Given the description of an element on the screen output the (x, y) to click on. 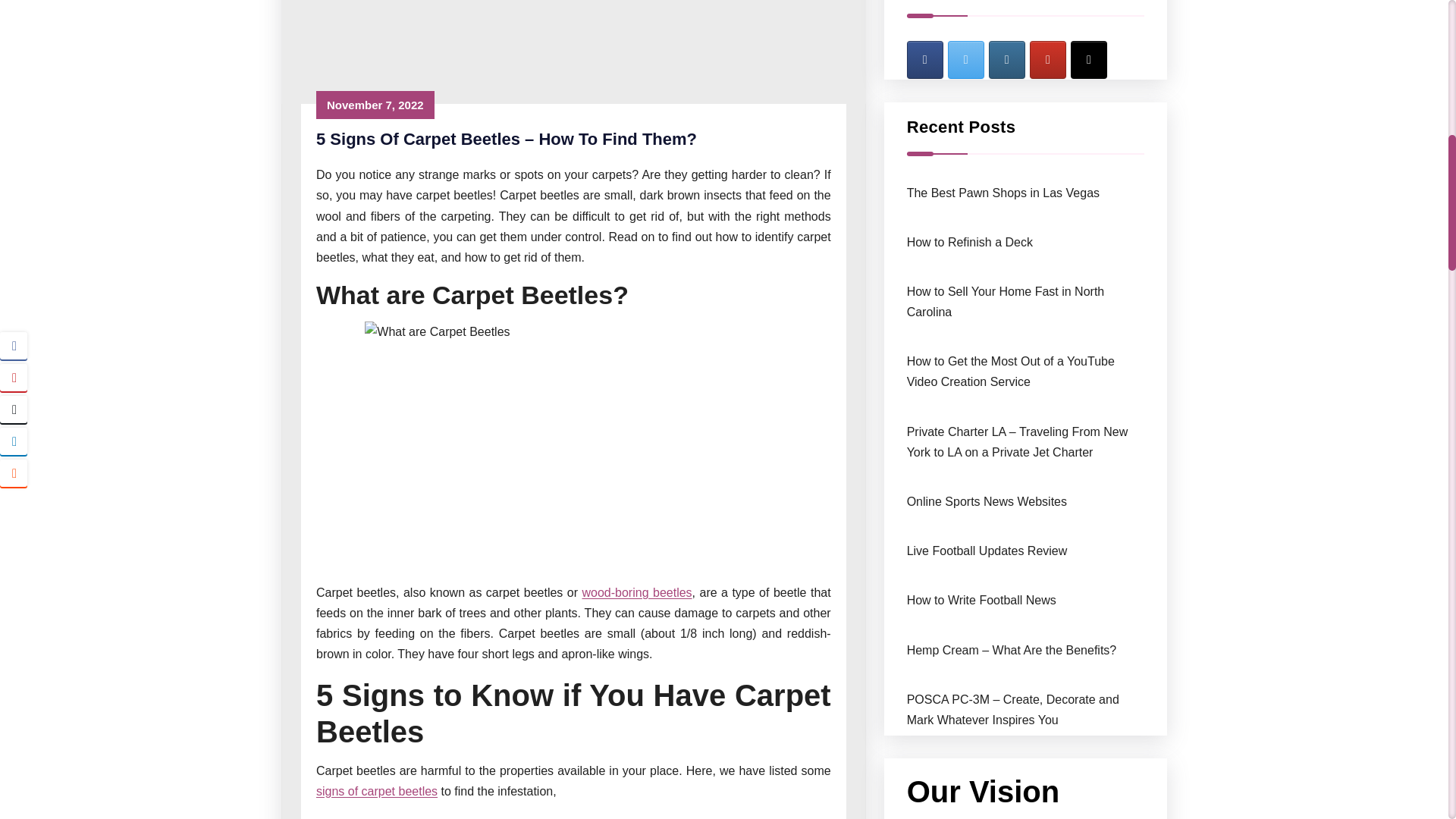
Biz News Media on Youtube (1047, 59)
Live Football Updates Review (987, 550)
Biz News Media on Instagram (1006, 59)
How to Sell Your Home Fast in North Carolina (1006, 301)
wood-boring beetles (635, 592)
How to Get the Most Out of a YouTube Video Creation Service (1011, 371)
Online Sports News Websites (987, 501)
How to Write Football News (982, 599)
signs of carpet beetles (376, 790)
November 7, 2022 (374, 104)
The Best Pawn Shops in Las Vegas (1003, 192)
Biz News Media on X Twitter (965, 59)
Biz News Media on Facebook (925, 59)
Biz News Media on Tiktok (1088, 59)
How to Refinish a Deck (969, 241)
